Given the description of an element on the screen output the (x, y) to click on. 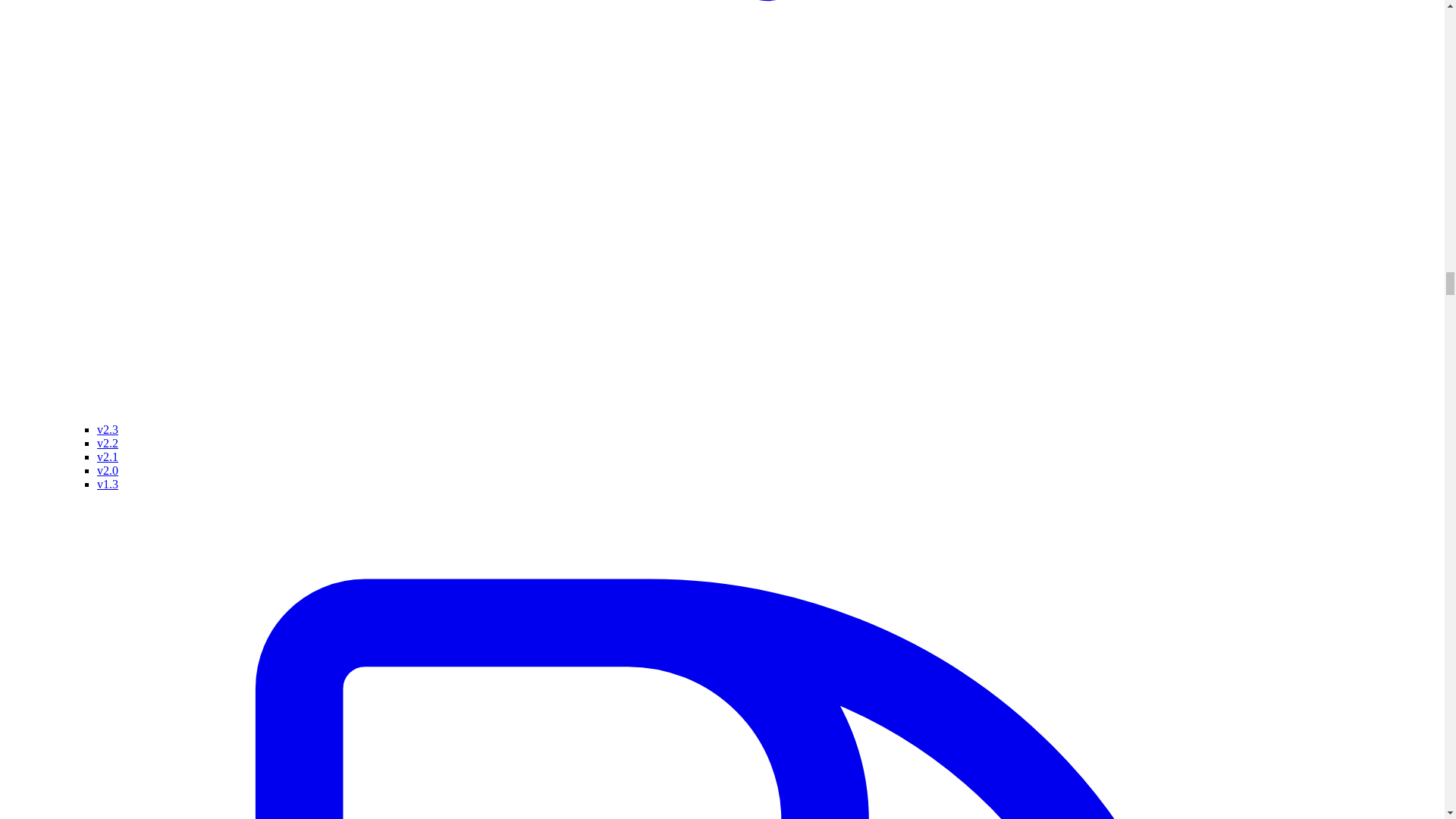
v1.3 (107, 483)
v2.0 (107, 470)
v2.3 (107, 429)
v2.2 (107, 442)
v2.1 (107, 456)
